Given the description of an element on the screen output the (x, y) to click on. 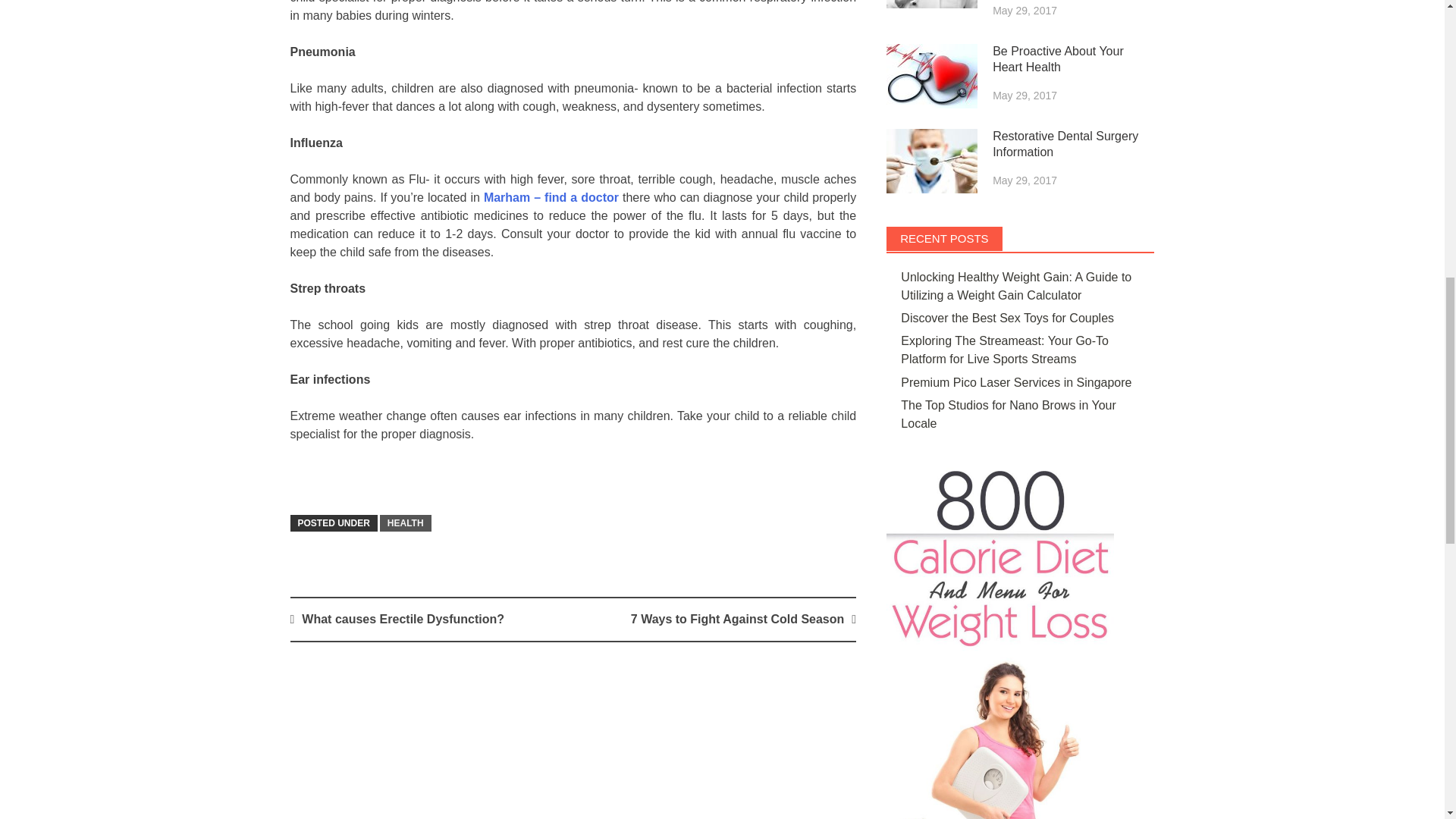
7 Ways to Fight Against Cold Season (737, 618)
What causes Erectile Dysfunction? (402, 618)
Restorative Dental Surgery Information (931, 160)
HEALTH (405, 523)
Be Proactive About Your Heart Health (931, 76)
